Given the description of an element on the screen output the (x, y) to click on. 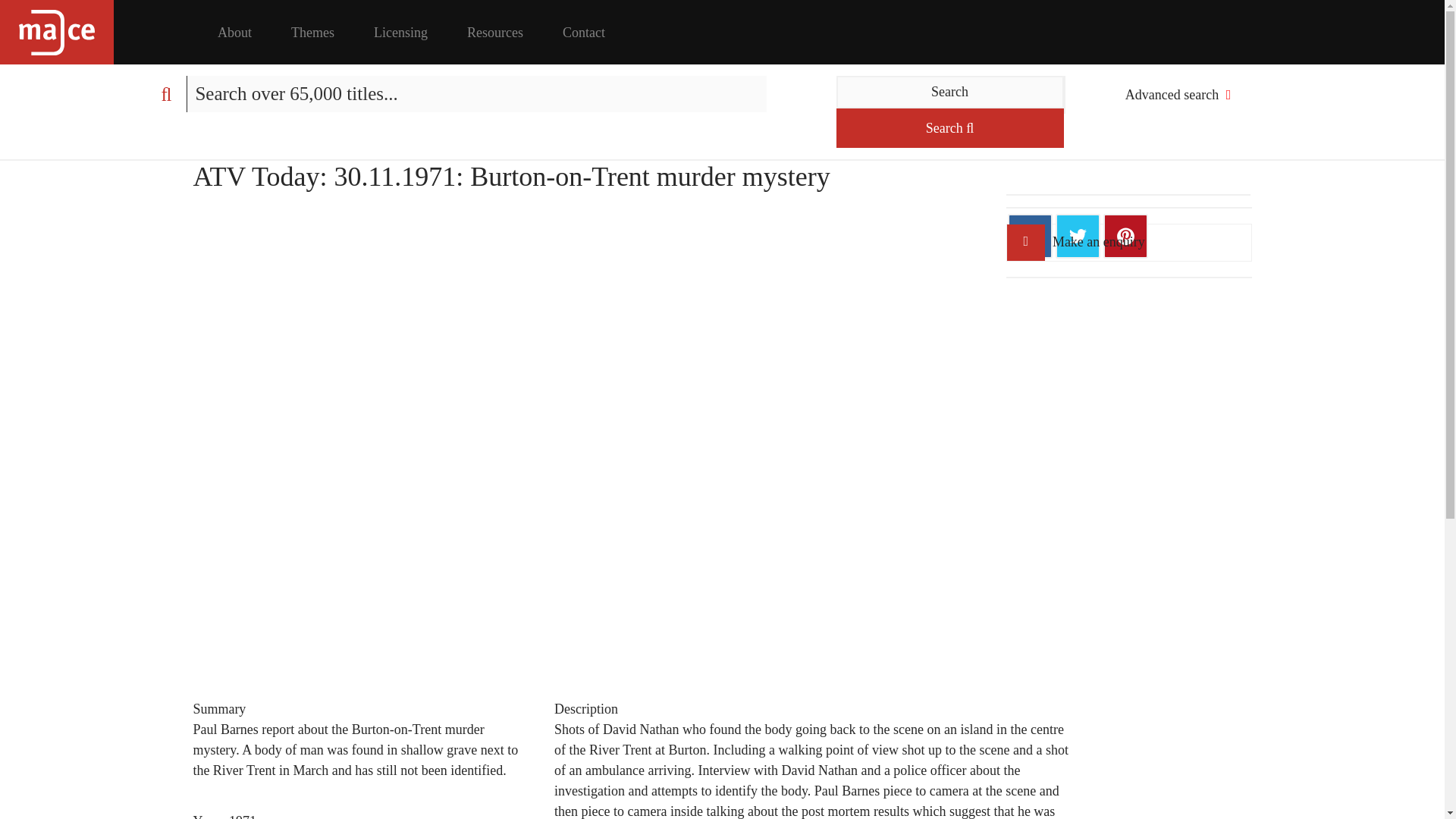
Themes (312, 32)
Search (948, 128)
About (234, 32)
Resources (494, 32)
Search (948, 128)
Make an enquiry (1129, 242)
Contact (584, 32)
Home (56, 32)
Advanced search (1176, 94)
Search (948, 92)
